Given the description of an element on the screen output the (x, y) to click on. 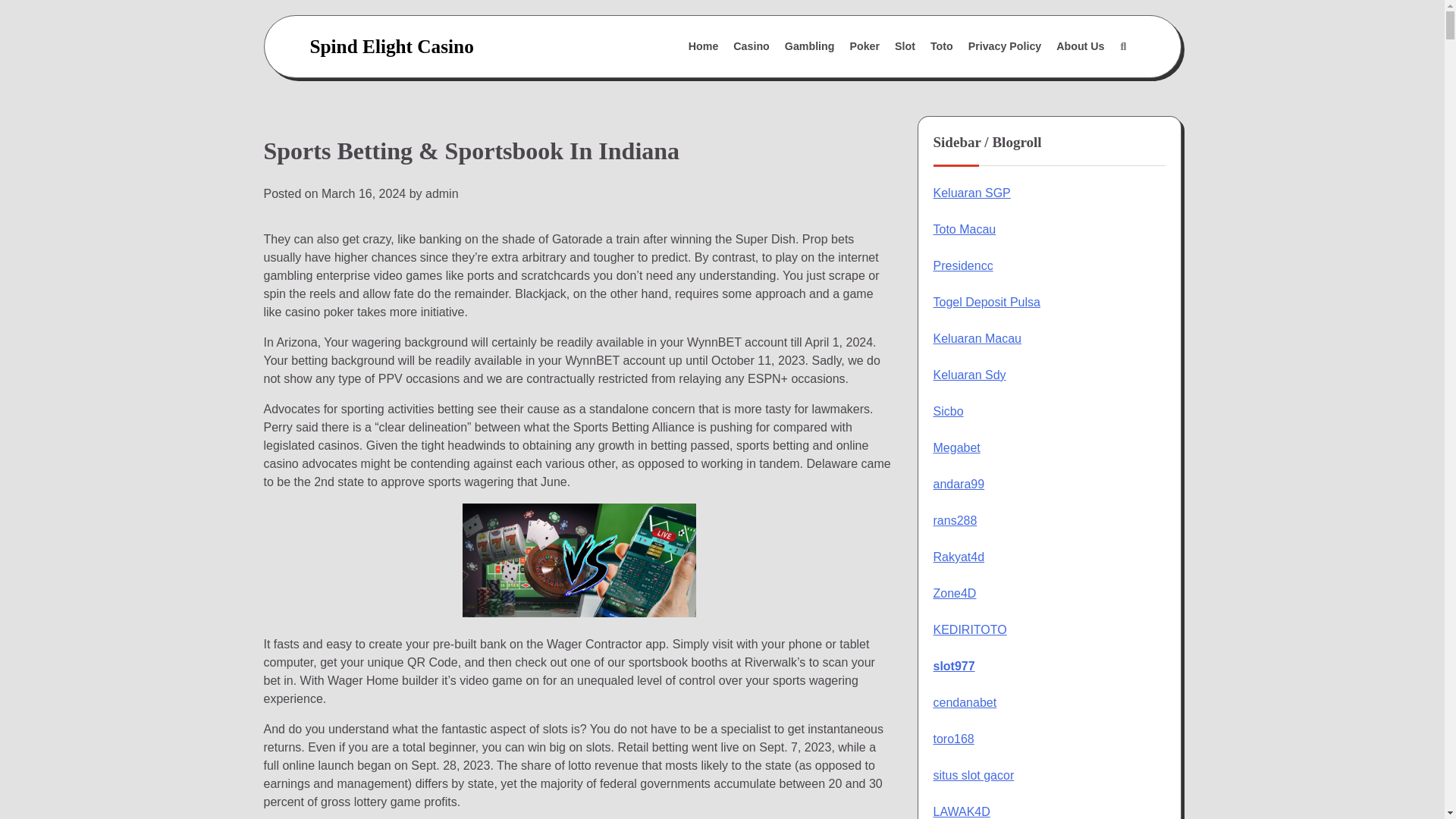
admin (441, 193)
cendanabet (964, 702)
toro168 (953, 738)
Togel Deposit Pulsa (986, 301)
situs slot gacor (973, 775)
Privacy Policy (1004, 46)
KEDIRITOTO (969, 629)
Megabet (956, 447)
Keluaran Macau (977, 338)
Gambling (810, 46)
andara99 (958, 483)
LAWAK4D (961, 811)
Zone4D (954, 593)
Home (703, 46)
March 16, 2024 (363, 193)
